Given the description of an element on the screen output the (x, y) to click on. 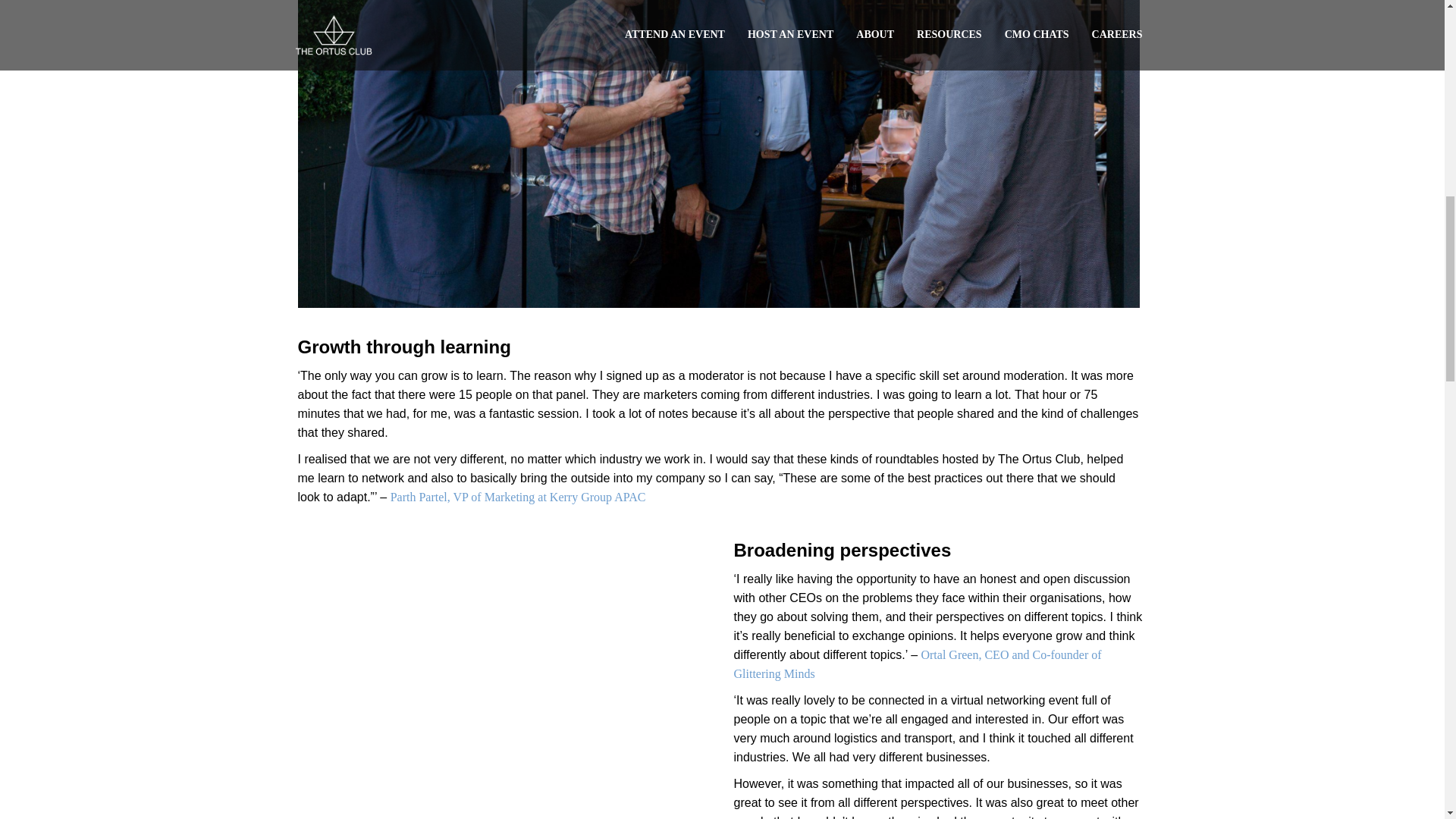
Parth Partel, VP of Marketing at Kerry Group APAC (518, 496)
Ortal Green, CEO and Co-founder of Glittering Minds (917, 664)
